Given the description of an element on the screen output the (x, y) to click on. 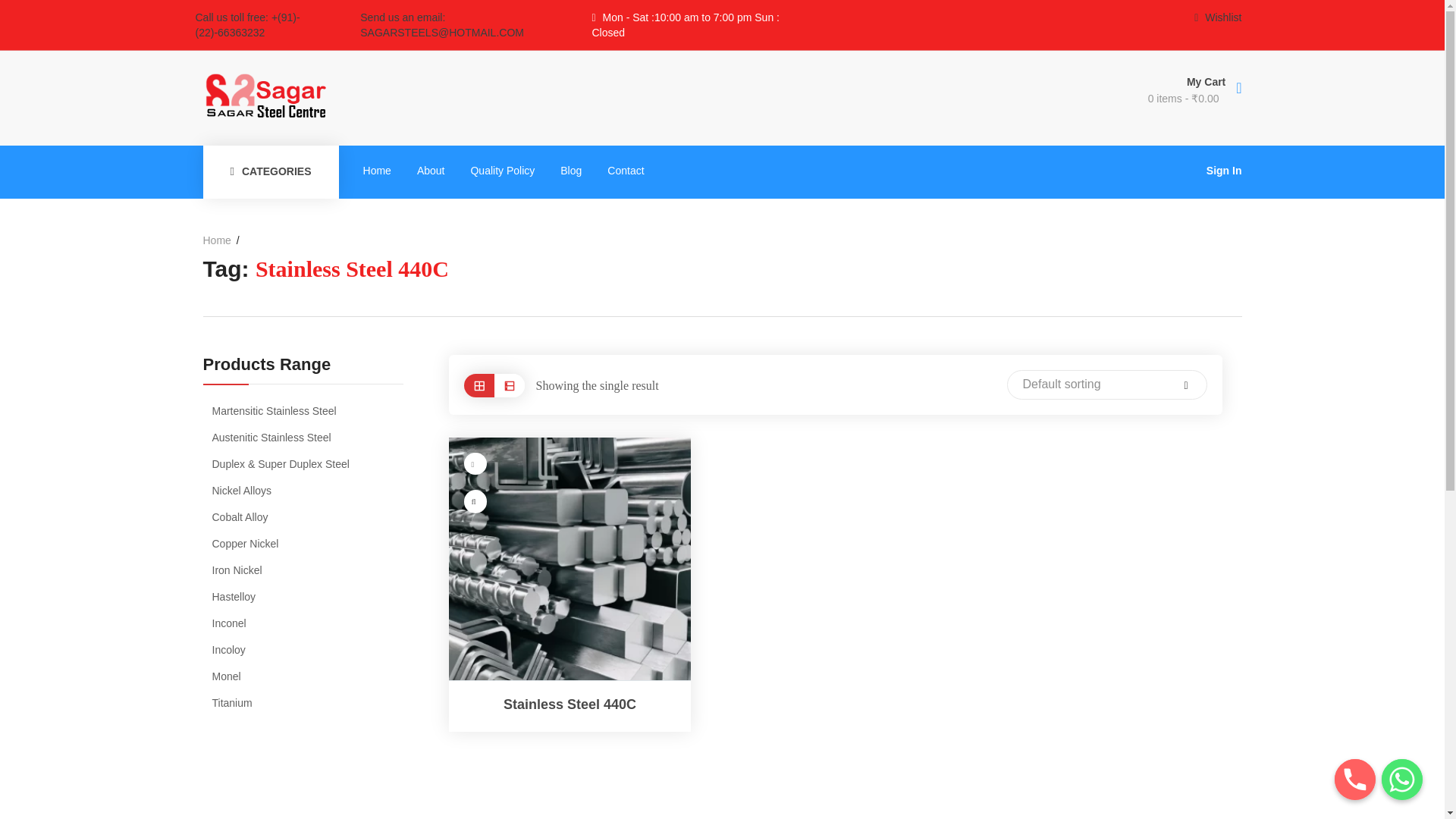
My Cart (1112, 80)
Cobalt Alloy (307, 517)
Nickel Alloys (307, 490)
Log in (477, 480)
Inconel (307, 622)
Martensitic Stainless Steel (307, 410)
Quality Policy (502, 171)
Wishlist (1217, 17)
Stainless Steel 440C (569, 558)
Copper Nickel (307, 543)
Hastelloy (307, 596)
List view (509, 385)
CATEGORIES (271, 172)
Sign In (1224, 171)
Home (377, 171)
